Given the description of an element on the screen output the (x, y) to click on. 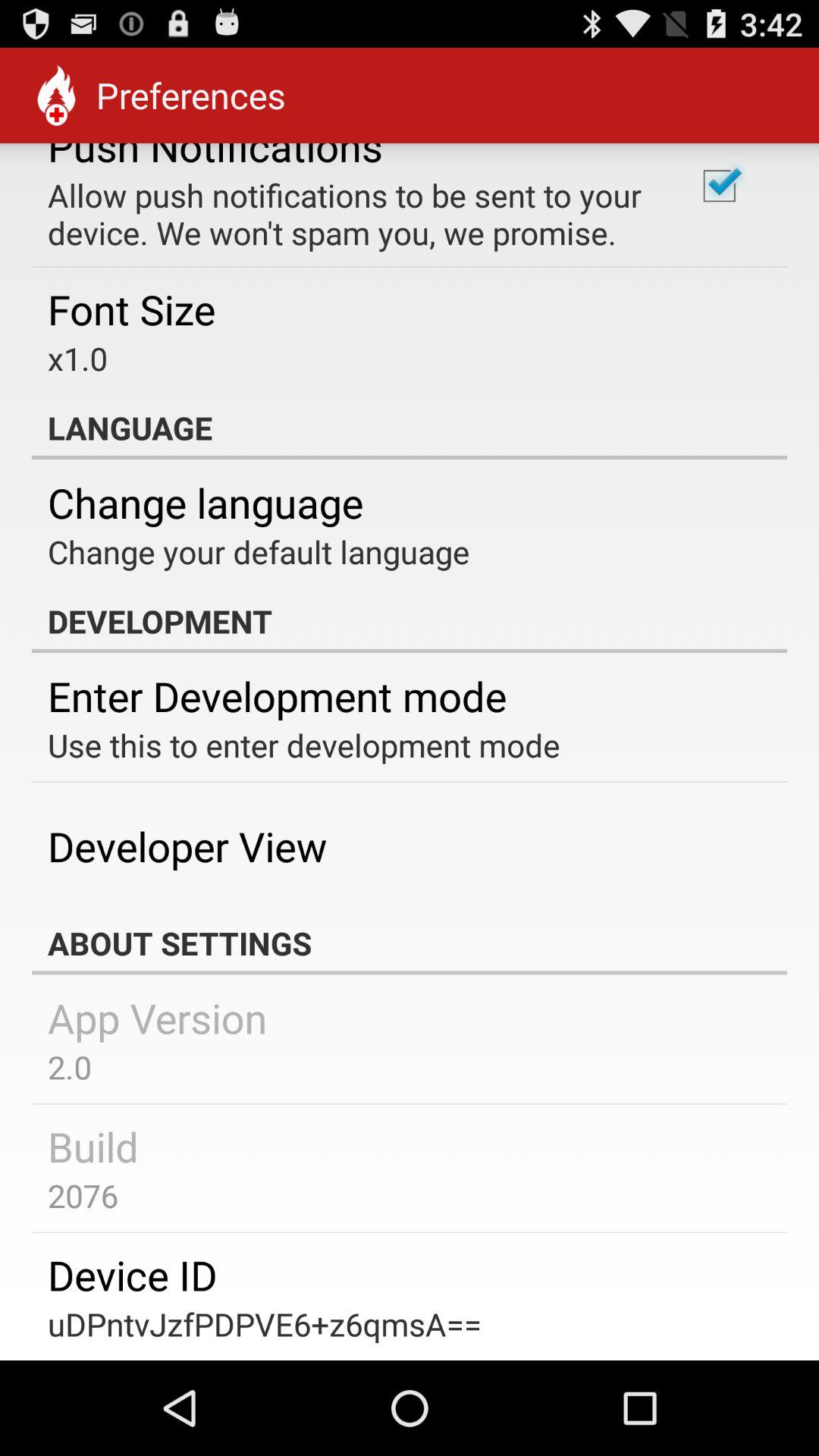
click the change your default icon (258, 551)
